Given the description of an element on the screen output the (x, y) to click on. 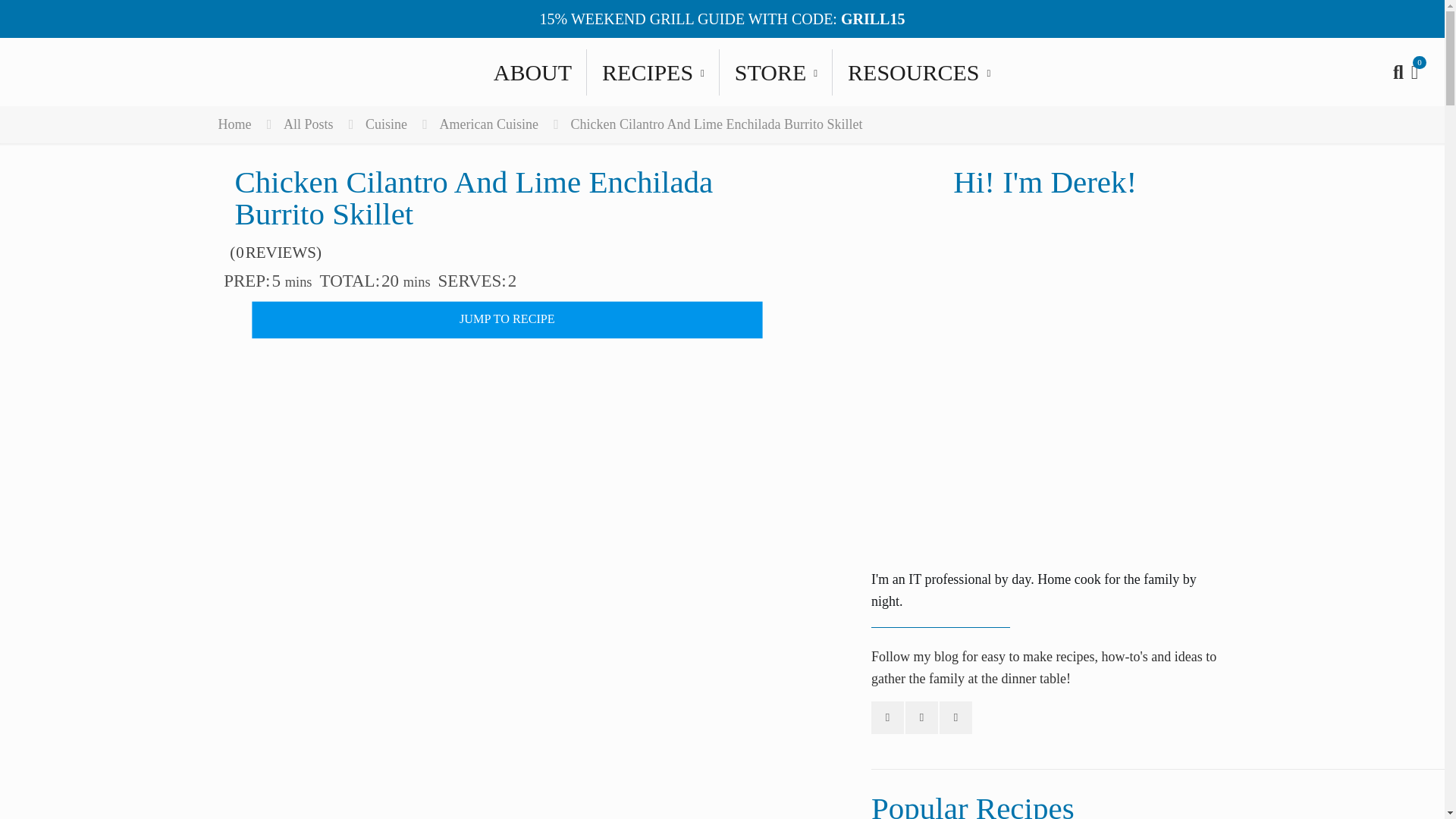
STORE (775, 71)
RESOURCES (722, 71)
RECIPES (919, 71)
ABOUT (652, 71)
